Given the description of an element on the screen output the (x, y) to click on. 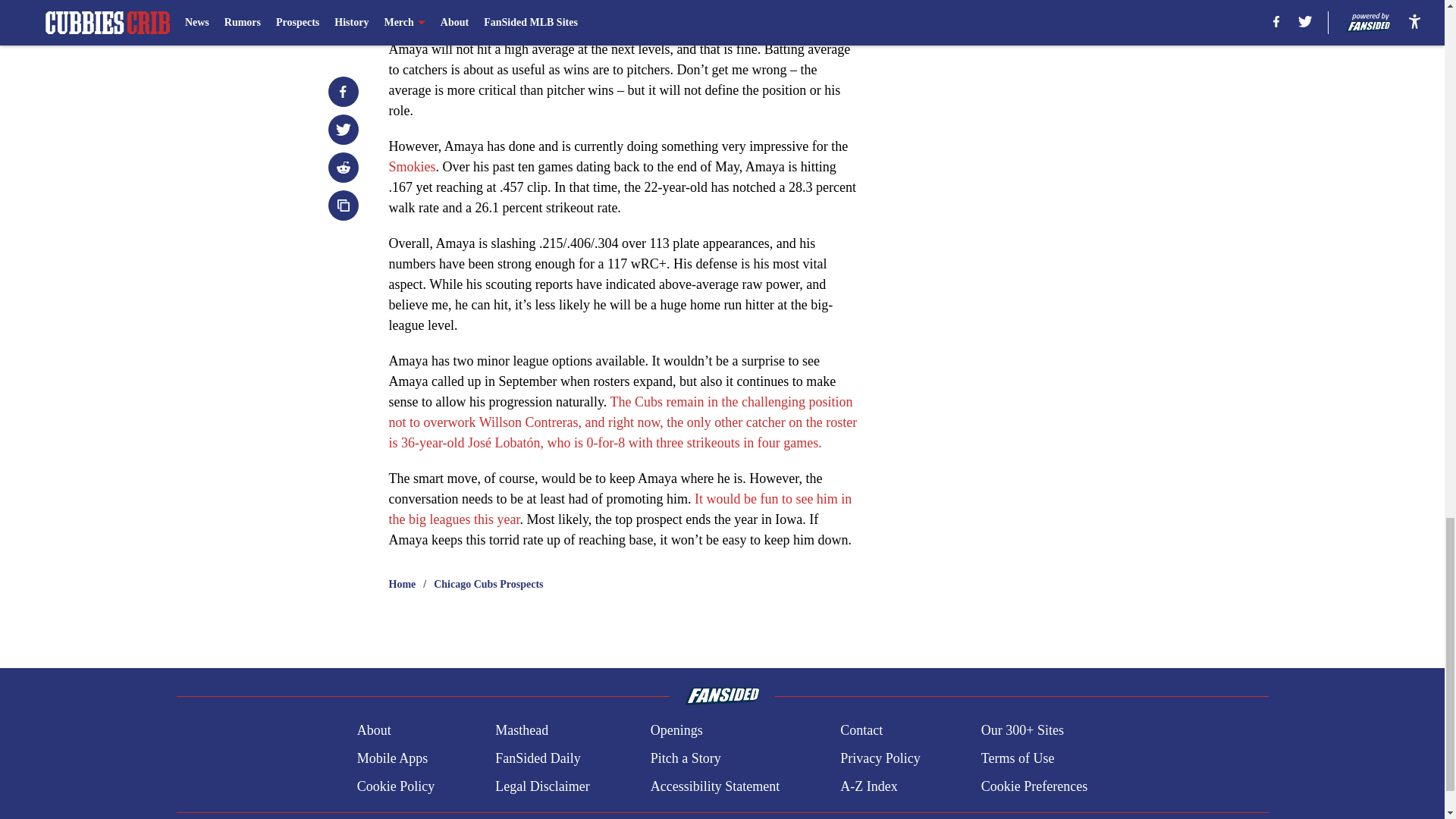
Chicago Cubs Prospects (488, 584)
Smokies (411, 166)
Pitch a Story (685, 758)
Masthead (521, 730)
Home (401, 584)
It would be fun to see him in the big leagues this year (619, 509)
Mobile Apps (392, 758)
Contact (861, 730)
Openings (676, 730)
About (373, 730)
